Given the description of an element on the screen output the (x, y) to click on. 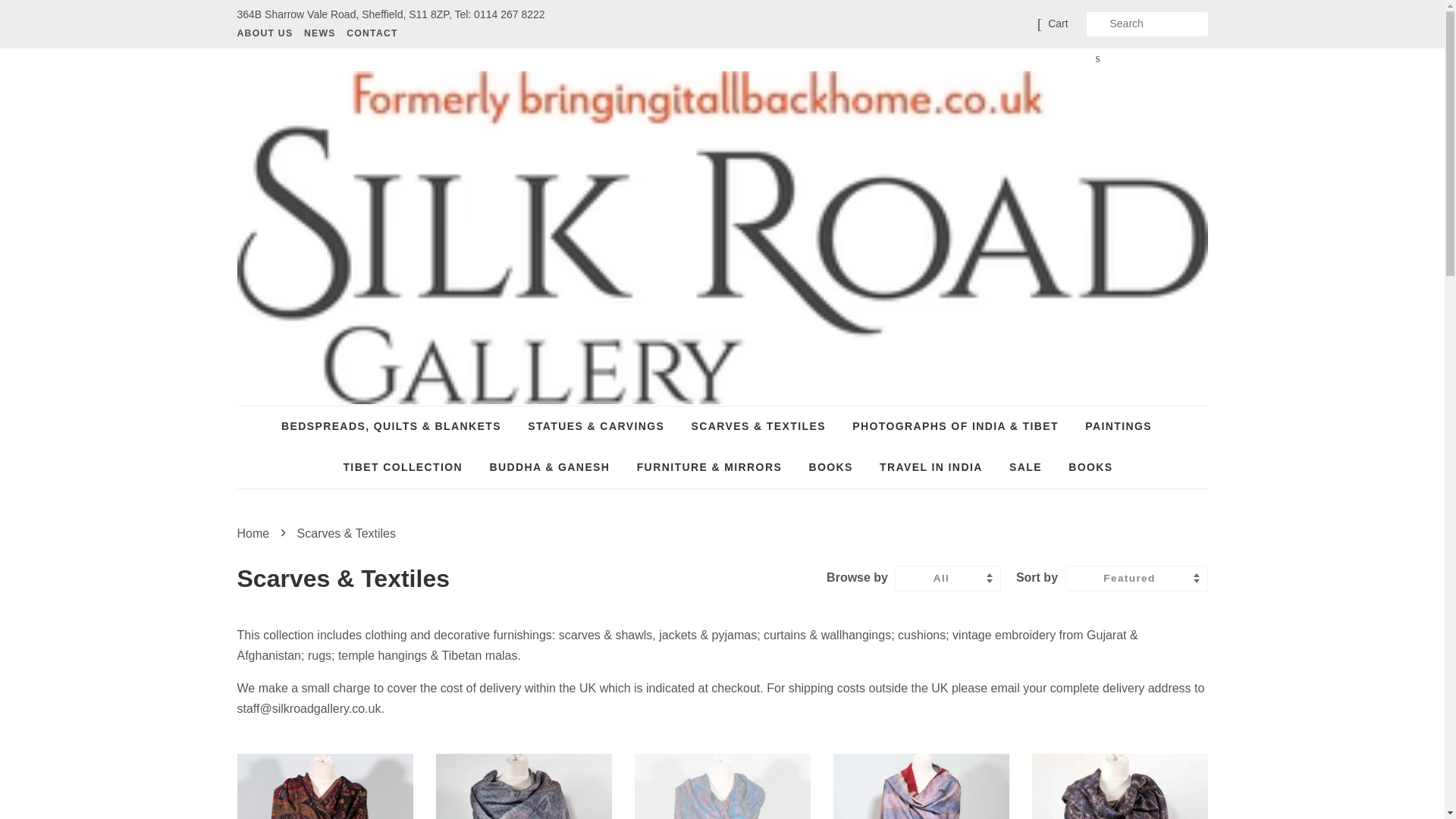
Cart (1057, 24)
TIBET COLLECTION (402, 467)
NEWS (319, 33)
TRAVEL IN INDIA (930, 467)
Back to the frontpage (254, 533)
BOOKS (1084, 467)
Home (254, 533)
BOOKS (829, 467)
SALE (1024, 467)
CONTACT (369, 33)
